Given the description of an element on the screen output the (x, y) to click on. 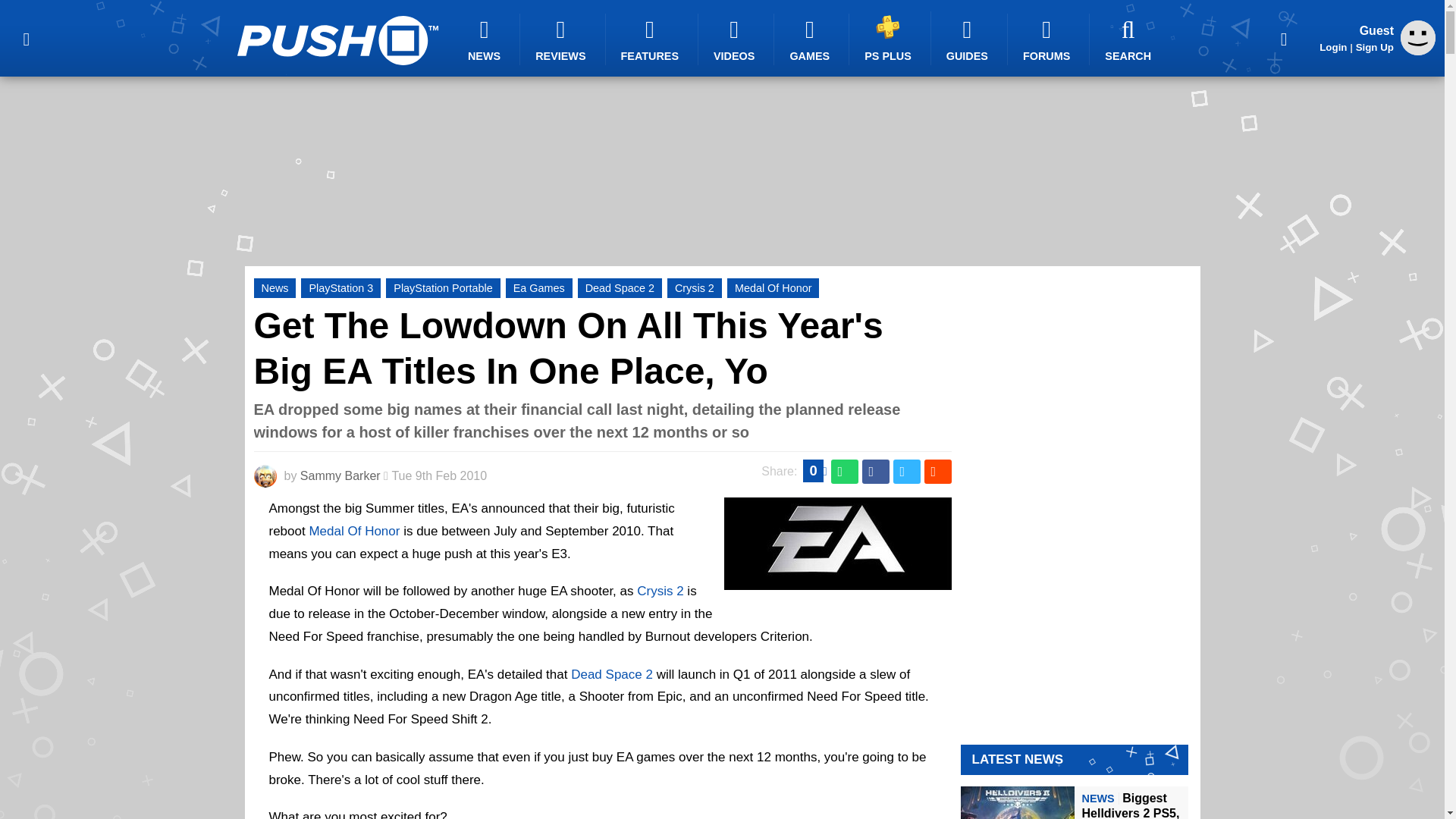
GUIDES (969, 39)
PS PLUS (889, 38)
NEWS (485, 39)
Push Square (336, 40)
Push Square (336, 40)
VIDEOS (736, 39)
SEARCH (1129, 39)
Guest (1417, 51)
REVIEWS (562, 39)
FEATURES (651, 39)
FORUMS (1048, 39)
Share This Page (1283, 37)
Login (1332, 47)
Sign Up (1374, 47)
GAMES (811, 39)
